Given the description of an element on the screen output the (x, y) to click on. 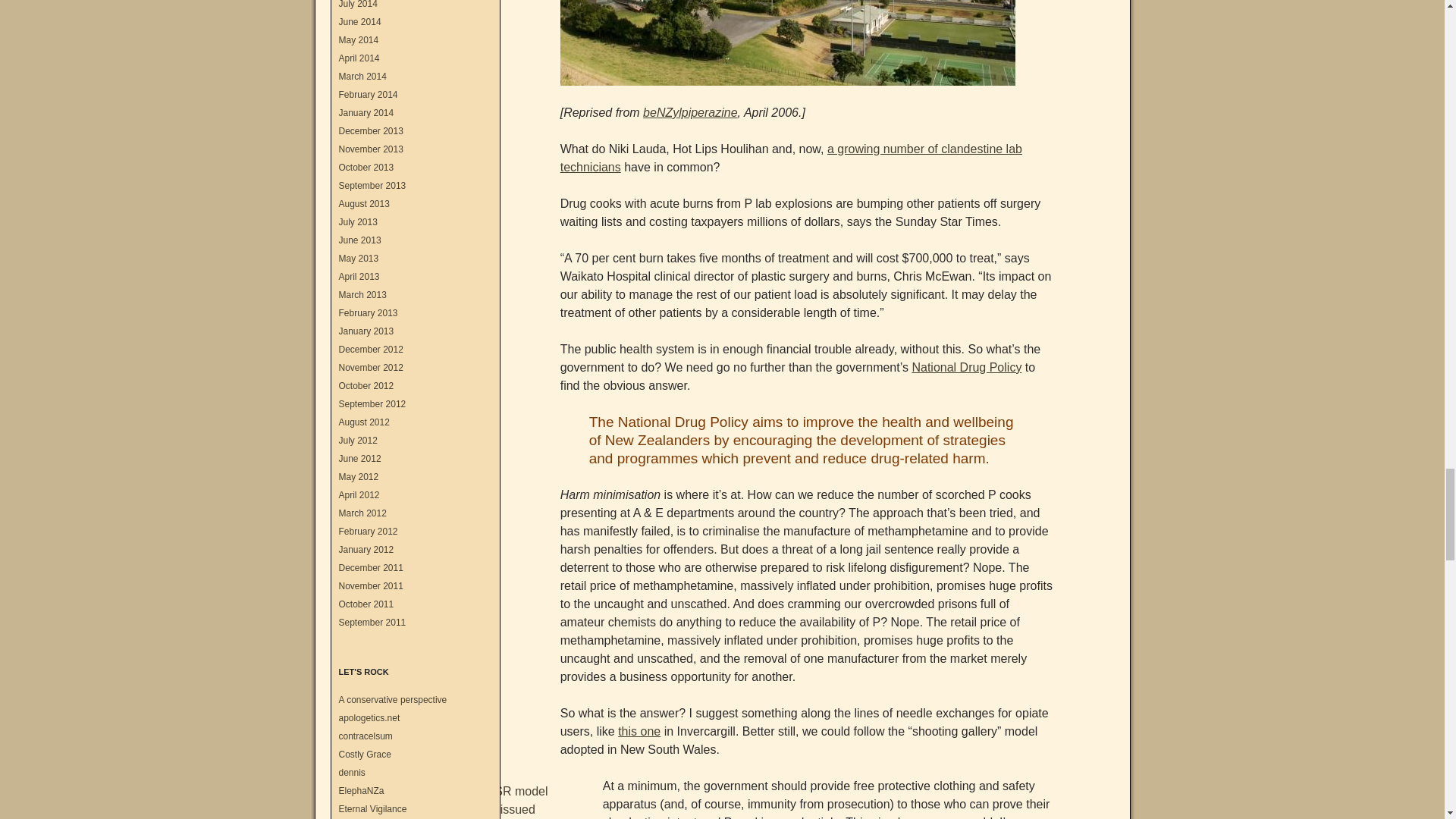
Staff at ESR model government issued protective clothing (508, 800)
a growing number of clandestine lab technicians (791, 157)
this one (639, 730)
National Drug Policy (966, 367)
beNZylpiperazine (690, 112)
The digital home of Dennis A. Smith (351, 772)
